Given the description of an element on the screen output the (x, y) to click on. 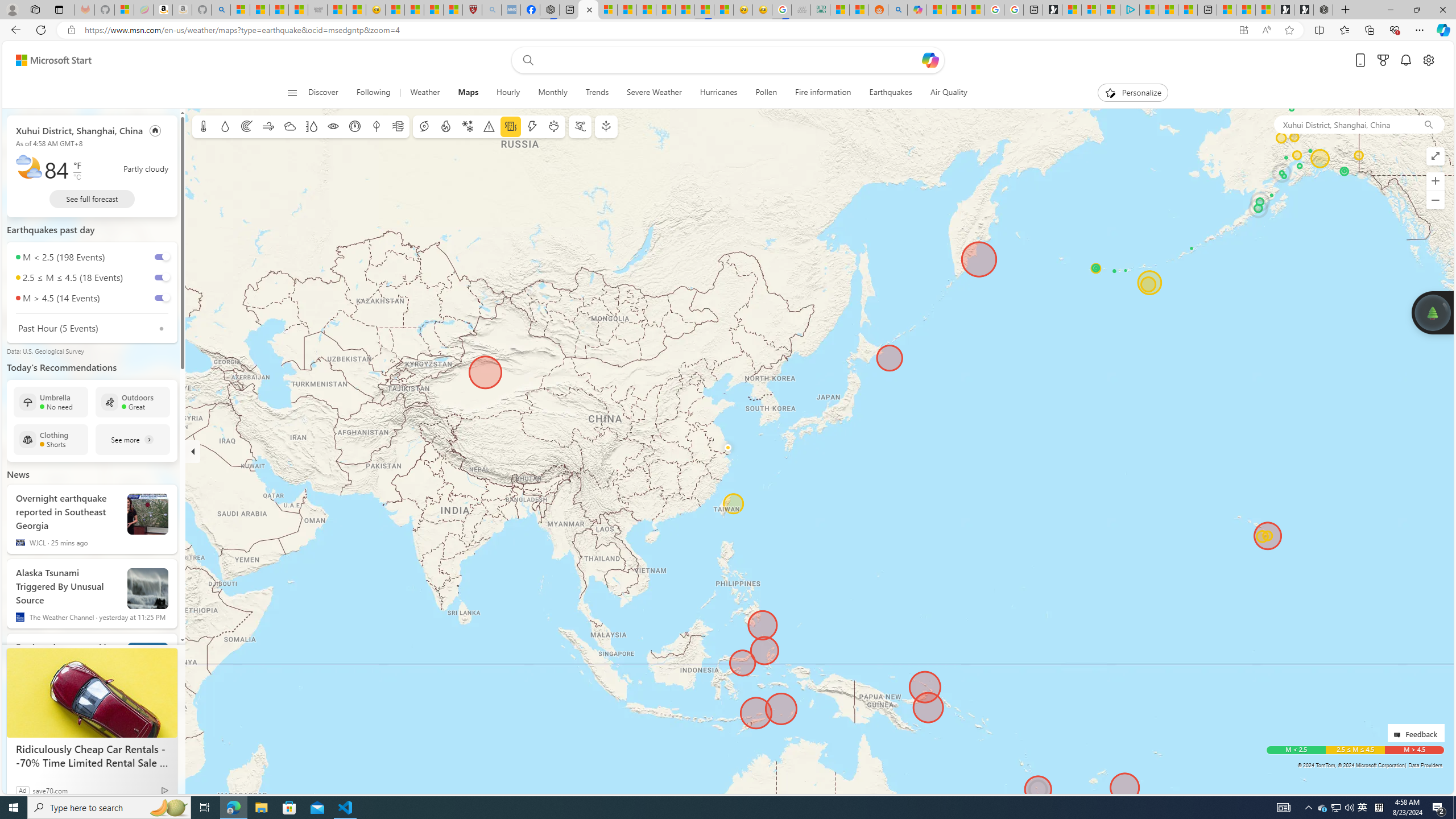
Clothing Shorts (50, 439)
MSNBC - MSN (839, 9)
Microsoft Start Gaming (1052, 9)
list of asthma inhalers uk - Search - Sleeping (491, 9)
Weather (424, 92)
These 3 Stocks Pay You More Than 5% to Own Them (1187, 9)
Winter weather (467, 126)
Play Free Online Games | Games from Microsoft Start (1303, 9)
Xuhui District, Shanghai, China (79, 130)
Notifications (1405, 60)
Dew point (376, 126)
Split screen (1318, 29)
Alaska Tsunami Triggered By Unusual Source (67, 584)
